Given the description of an element on the screen output the (x, y) to click on. 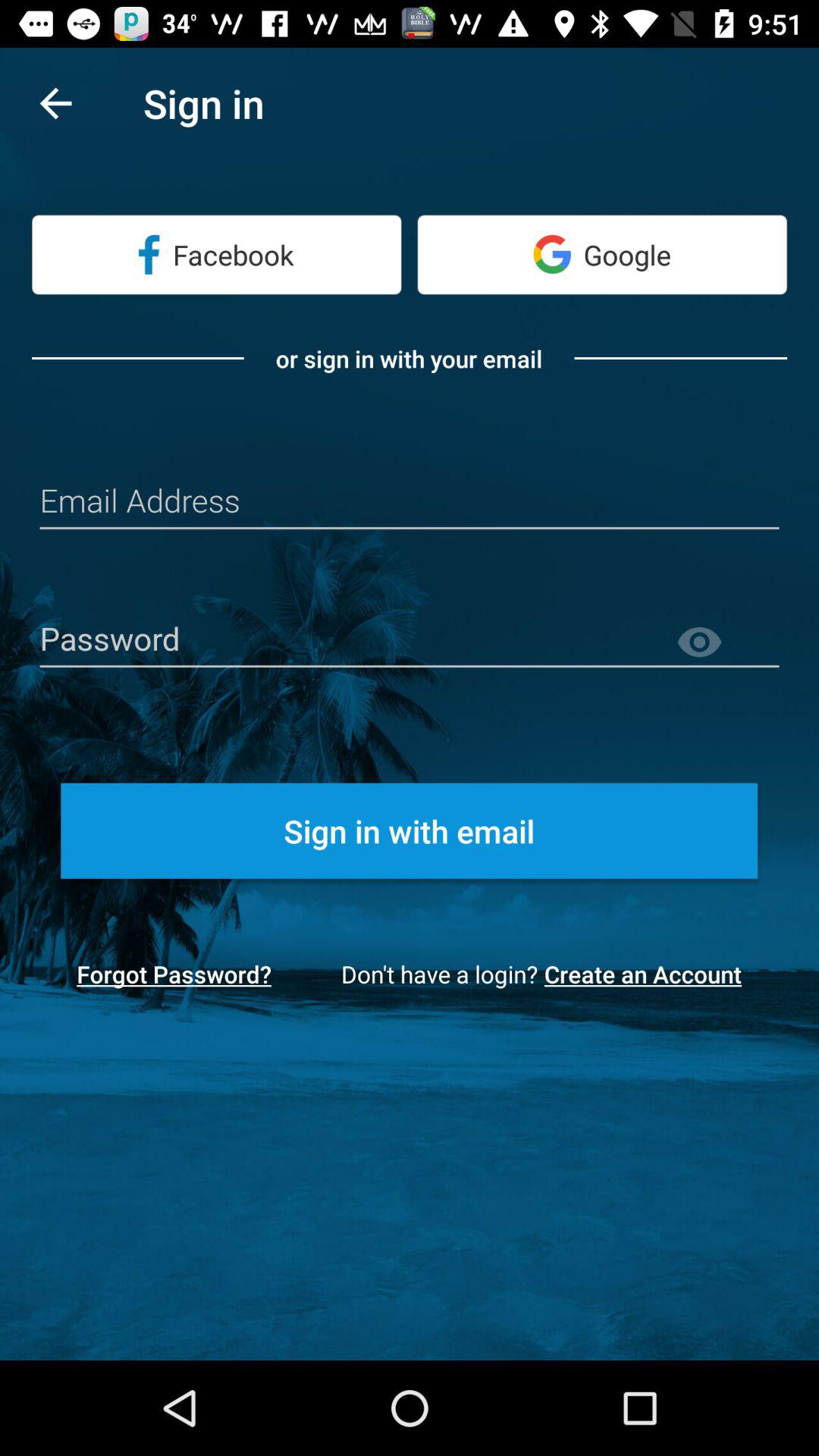
press the icon at the bottom right corner (647, 974)
